Given the description of an element on the screen output the (x, y) to click on. 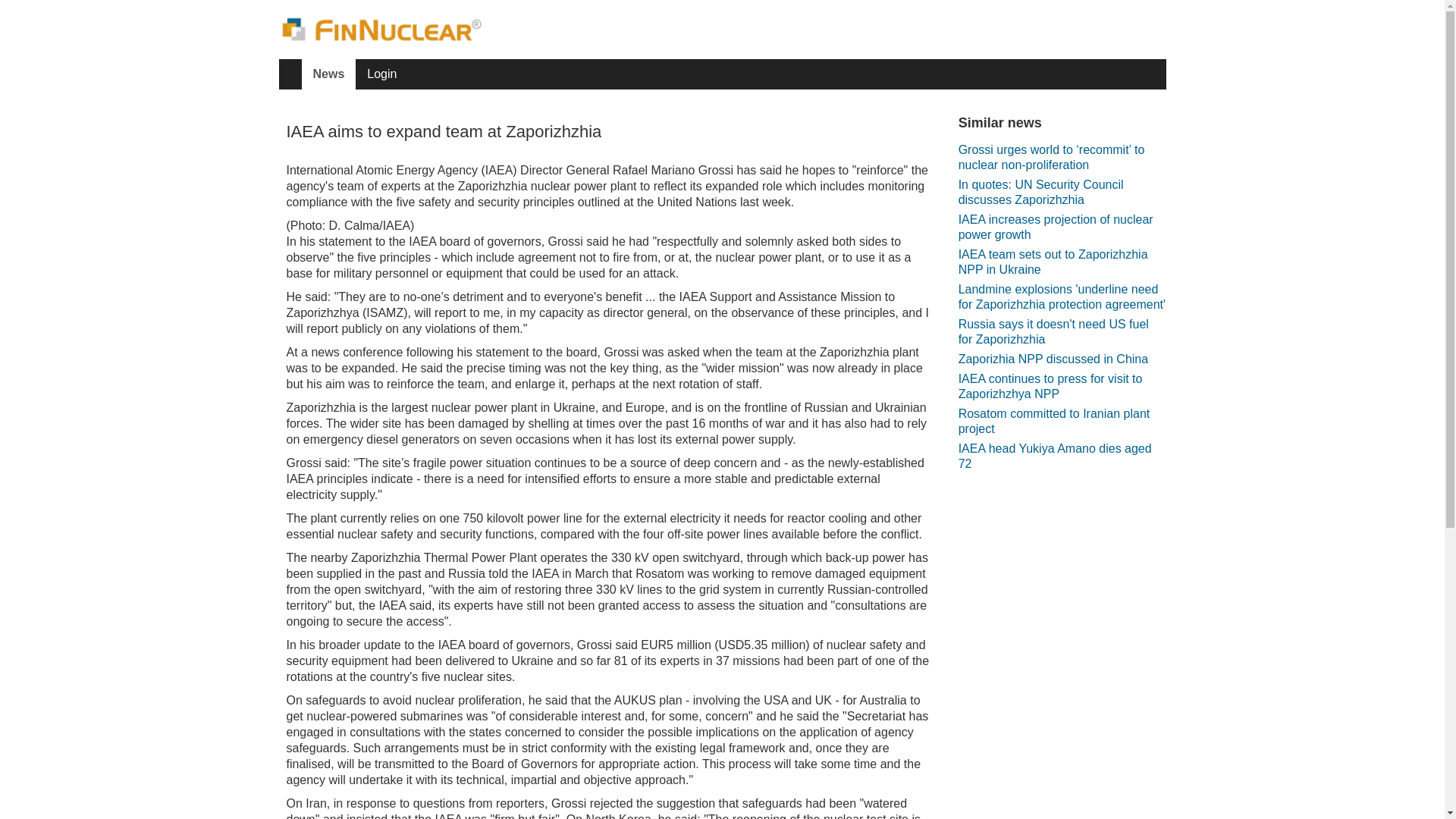
Russia says it doesn't need US fuel for Zaporizhzhia (1062, 331)
IAEA head Yukiya Amano dies aged 72 (1062, 456)
News (328, 73)
Rosatom committed to Iranian plant project (1062, 421)
IAEA team sets out to Zaporizhzhia NPP in Ukraine (1062, 262)
In quotes: UN Security Council discusses Zaporizhzhia (1062, 192)
IAEA increases projection of nuclear power growth (1062, 226)
IAEA continues to press for visit to Zaporizhzhya NPP (1062, 386)
Zaporizhia NPP discussed in China (1053, 359)
Login (381, 73)
